Given the description of an element on the screen output the (x, y) to click on. 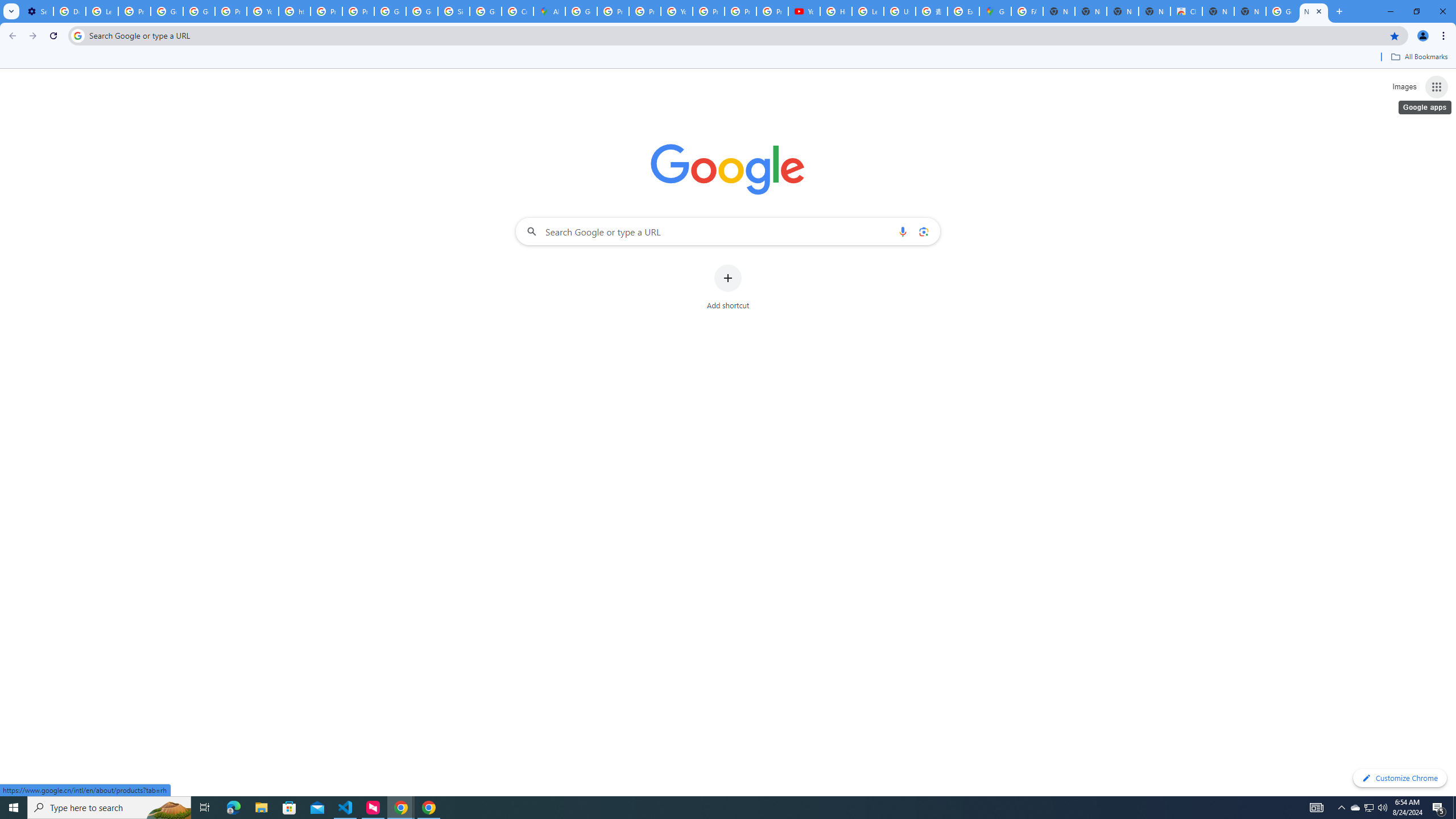
Google Maps (995, 11)
New Tab (1313, 11)
YouTube (262, 11)
Privacy Help Center - Policies Help (326, 11)
YouTube (804, 11)
Privacy Help Center - Policies Help (644, 11)
Google Account Help (166, 11)
Chrome Web Store (1185, 11)
